Given the description of an element on the screen output the (x, y) to click on. 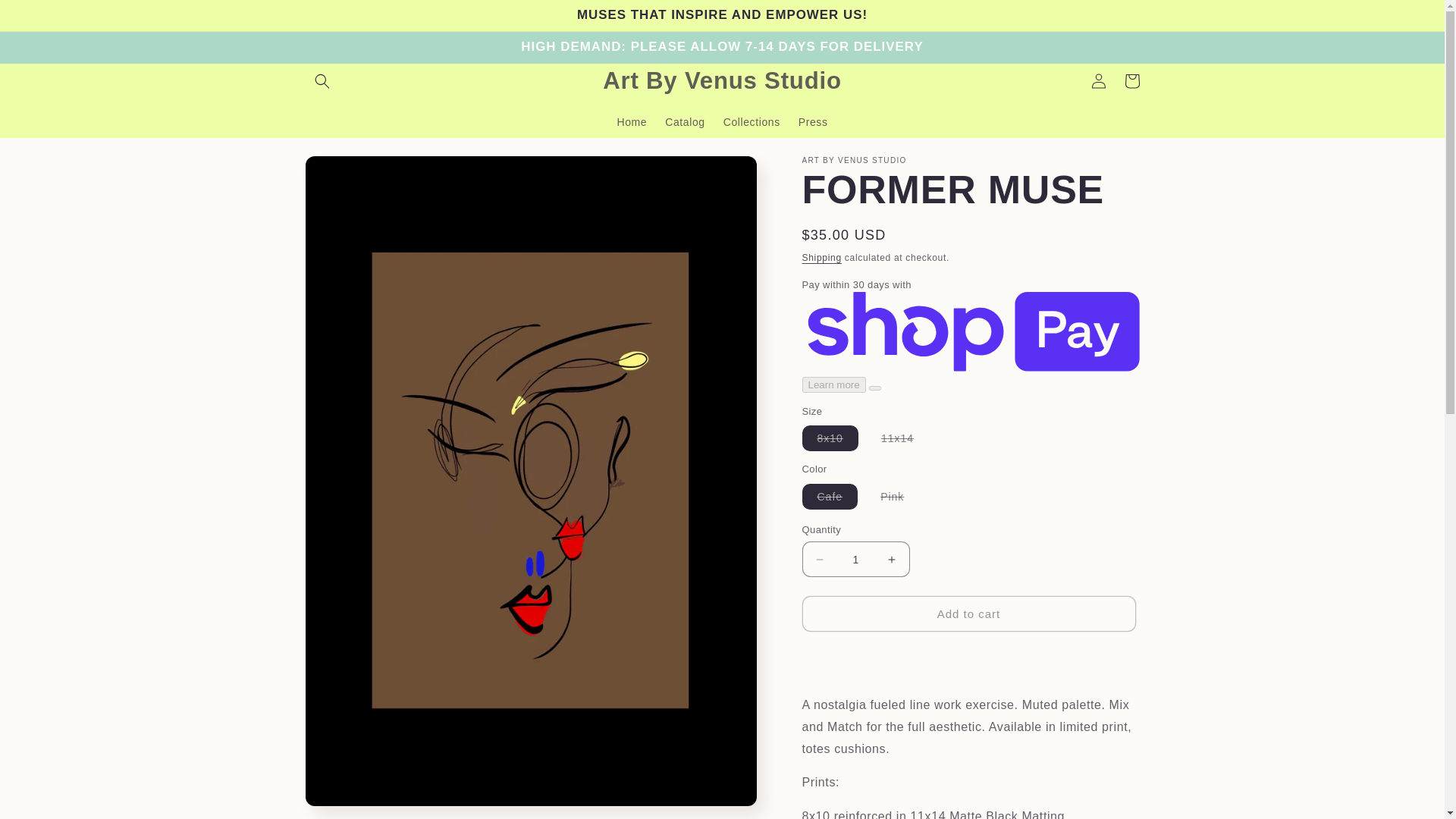
Press (813, 122)
Cart (1131, 80)
Catalog (684, 122)
Shipping (821, 257)
Skip to product information (350, 172)
Collections (751, 122)
Log in (1098, 80)
1 (856, 559)
Art By Venus Studio (721, 80)
Skip to content (45, 17)
Home (631, 122)
